Given the description of an element on the screen output the (x, y) to click on. 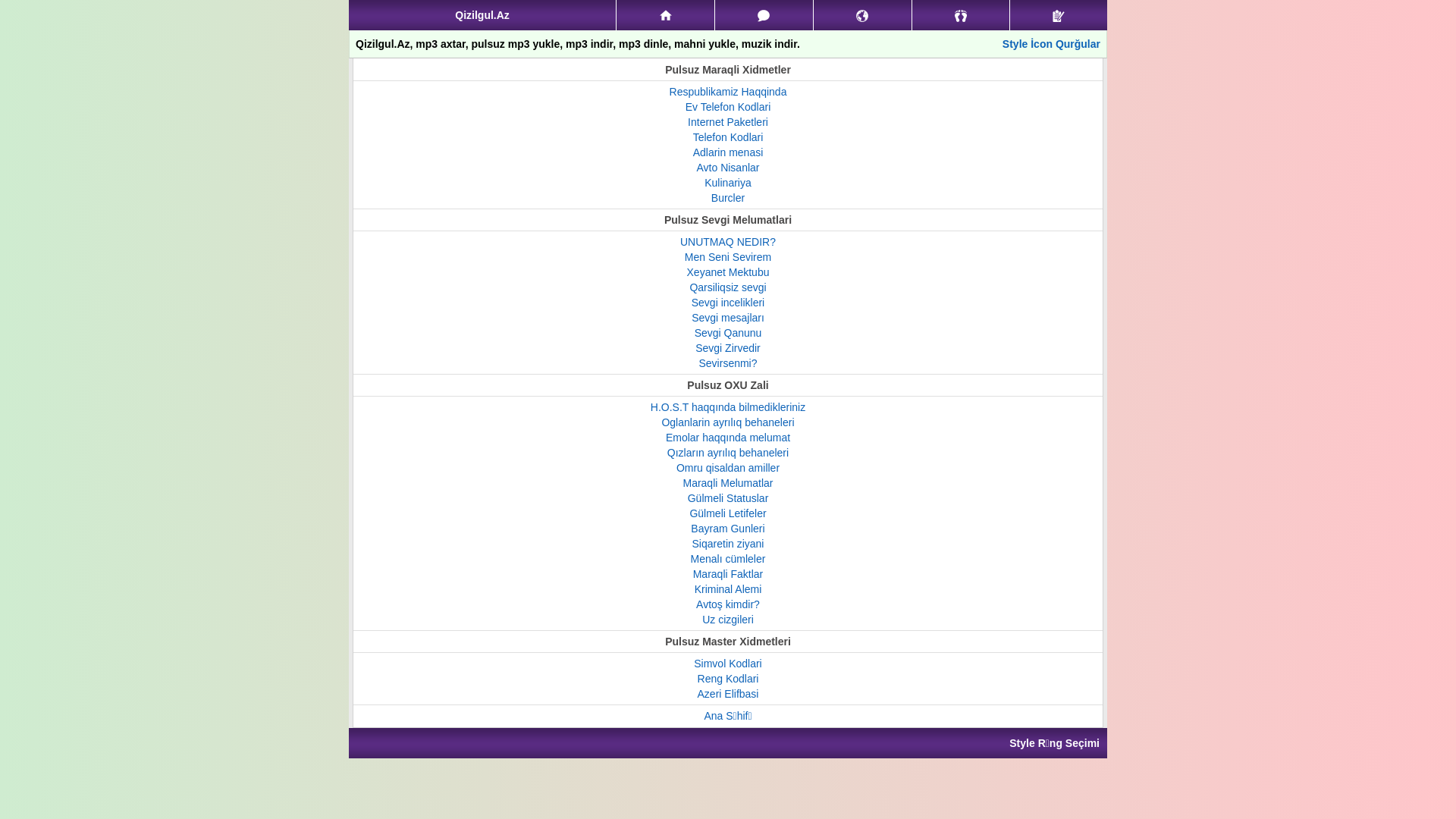
Sevgi Zirvedir Element type: text (727, 348)
Reng Kodlari Element type: text (728, 678)
Xeyanet Mektubu Element type: text (728, 272)
Avto Nisanlar Element type: text (727, 167)
Sevgi incelikleri Element type: text (727, 302)
Mesajlar Element type: hover (763, 15)
Qeydiyyat Element type: hover (1058, 15)
Omru qisaldan amiller Element type: text (727, 467)
Men Seni Sevirem Element type: text (727, 257)
Maraqli Melumatlar Element type: text (727, 482)
Telefon Kodlari Element type: text (728, 137)
Siqaretin ziyani Element type: text (728, 543)
Burcler Element type: text (727, 197)
Adlarin menasi Element type: text (728, 152)
Sevirsenmi? Element type: text (727, 363)
Bayram Gunleri Element type: text (727, 528)
Kulinariya Element type: text (727, 182)
Internet Paketleri Element type: text (727, 122)
Respublikamiz Haqqinda Element type: text (728, 91)
Qarsiliqsiz sevgi Element type: text (727, 287)
Qonaqlar Element type: hover (961, 15)
Maraqli Faktlar Element type: text (728, 573)
UNUTMAQ NEDIR? Element type: text (727, 241)
Uz cizgileri Element type: text (727, 619)
Sevgi Qanunu Element type: text (728, 332)
Bildirisler Element type: hover (862, 15)
Kriminal Alemi Element type: text (728, 589)
Azeri Elifbasi Element type: text (728, 693)
Ev Telefon Kodlari Element type: text (728, 106)
Simvol Kodlari Element type: text (727, 663)
